Given the description of an element on the screen output the (x, y) to click on. 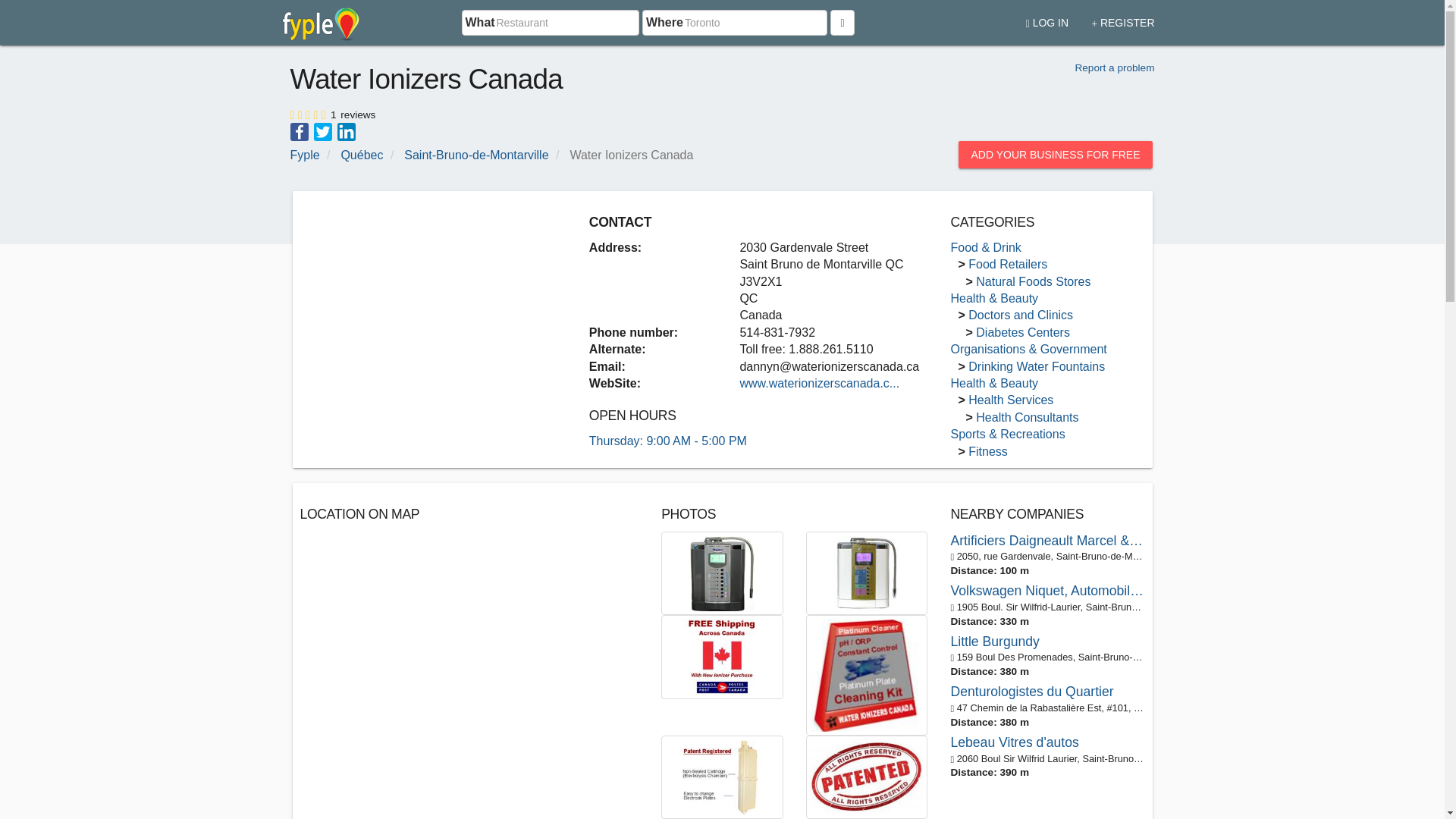
Report a problem (1114, 67)
Home page (320, 22)
5.00 (309, 112)
Saint-Bruno-de-Montarville (476, 154)
Fyple (303, 154)
REGISTER (1123, 17)
Share on Facebook (298, 130)
Food Retailers (1007, 264)
Advertisement (426, 305)
Diabetes Centers (1022, 332)
